Given the description of an element on the screen output the (x, y) to click on. 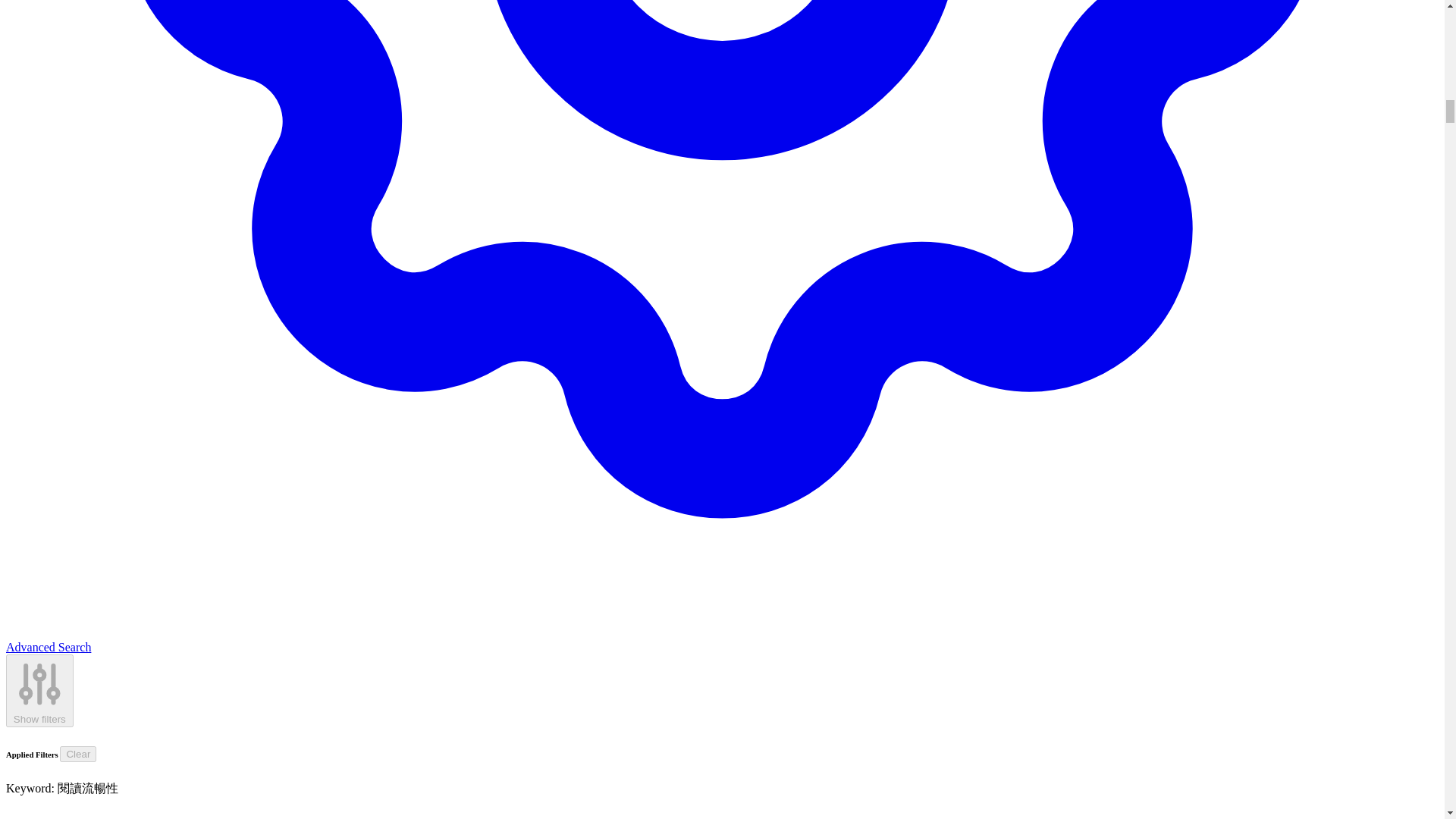
Clear (77, 754)
Show filters (39, 691)
